Given the description of an element on the screen output the (x, y) to click on. 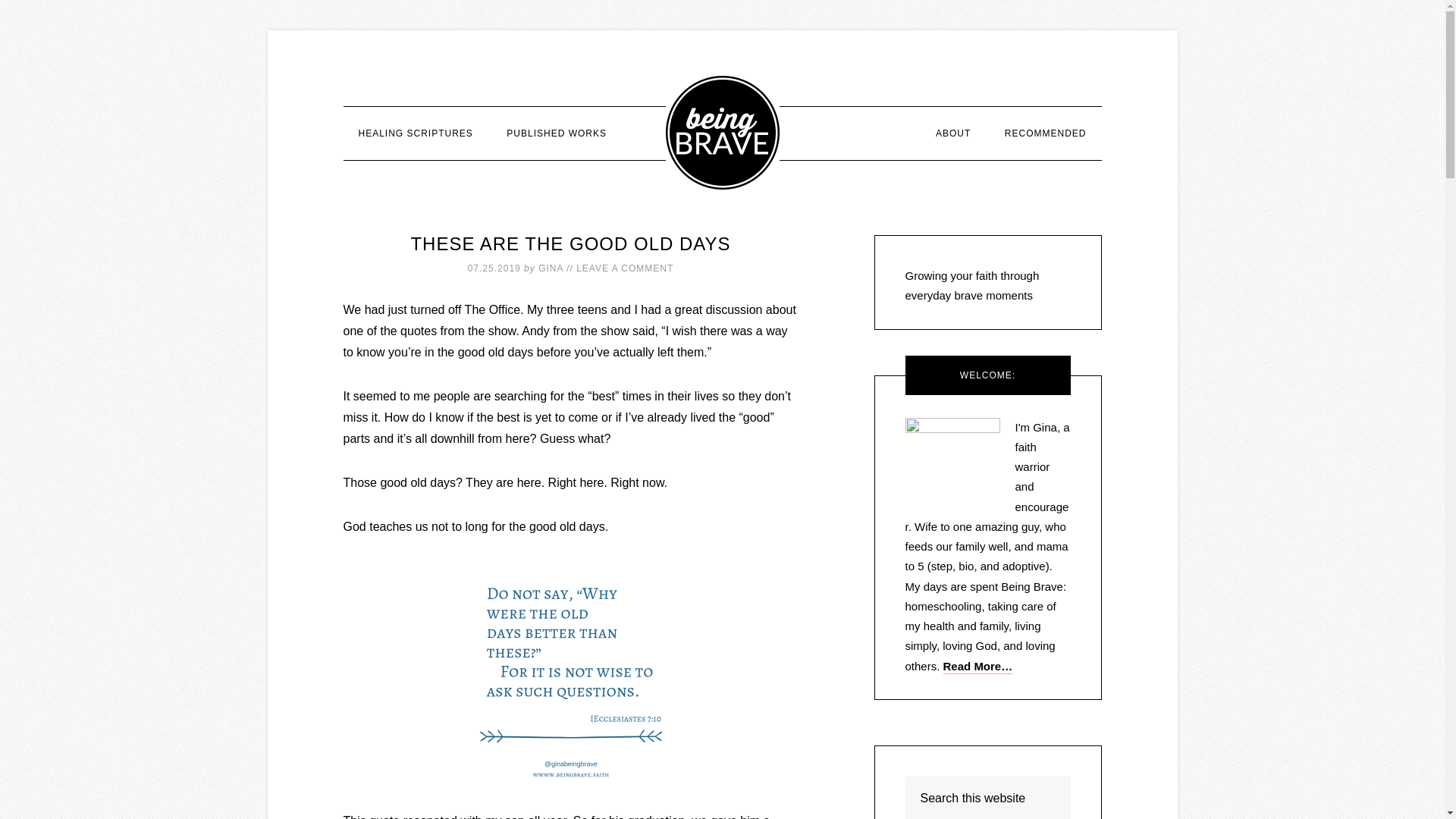
RECOMMENDED (1046, 133)
LEAVE A COMMENT (624, 267)
THESE ARE THE GOOD OLD DAYS (570, 243)
ABOUT (952, 133)
BEING BRAVE (721, 132)
GINA (550, 267)
HEALING SCRIPTURES (414, 133)
PUBLISHED WORKS (556, 133)
